Given the description of an element on the screen output the (x, y) to click on. 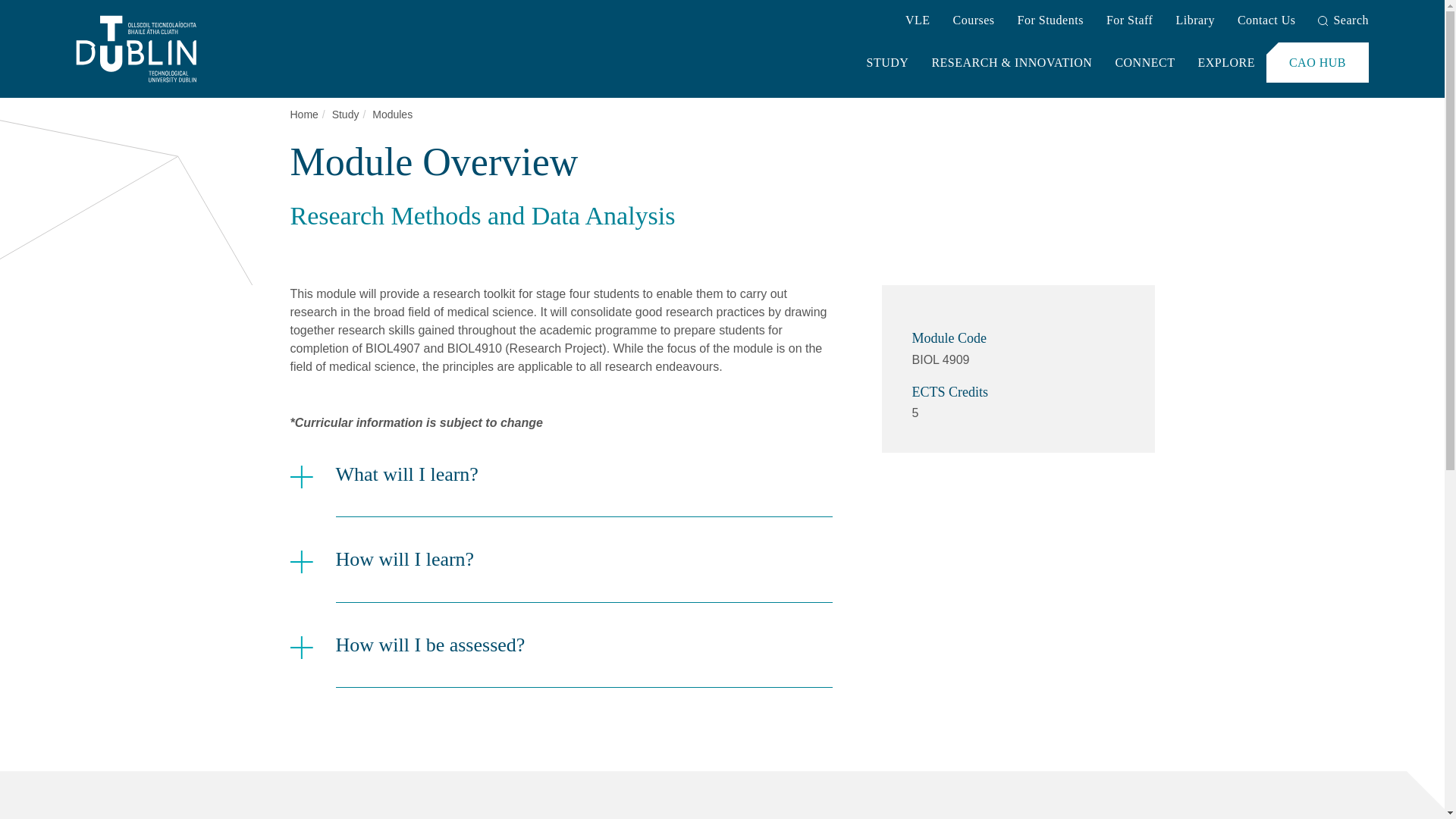
CAO HUB (1317, 62)
For Staff (1129, 21)
STUDY (888, 62)
Search (1342, 21)
Contact Us (1266, 21)
Courses (973, 21)
For Students (1050, 21)
VLE (917, 21)
Library (1194, 21)
